Given the description of an element on the screen output the (x, y) to click on. 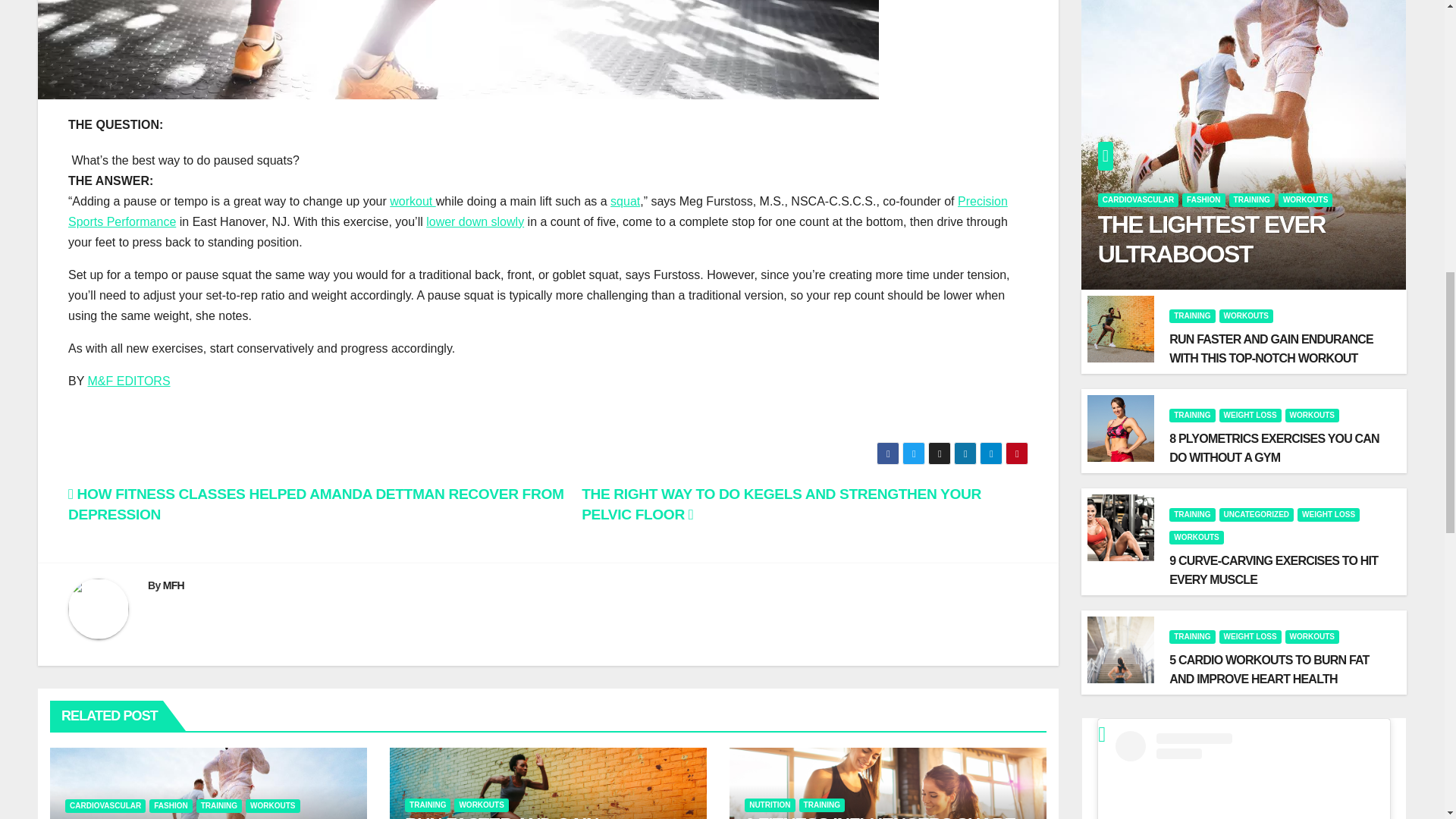
Precision Sports Performance (537, 211)
workout  (412, 201)
squat (625, 201)
THE RIGHT WAY TO DO KEGELS AND STRENGTHEN YOUR PELVIC FLOOR (780, 504)
MFH (173, 585)
Permalink to: THE LIGHTEST EVER ULTRABOOST (150, 816)
lower down slowly (475, 221)
